Given the description of an element on the screen output the (x, y) to click on. 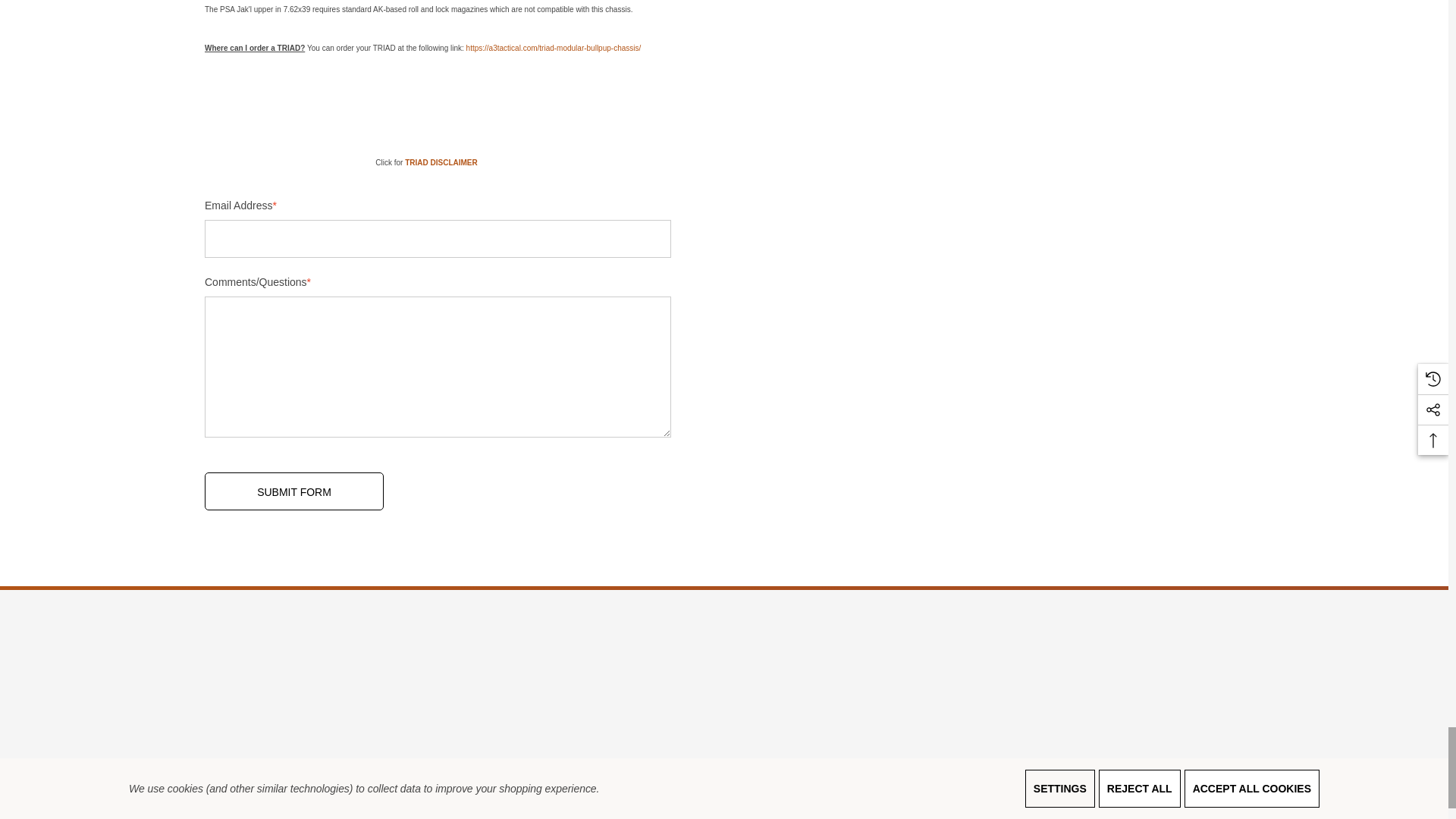
DISCLAIMER (440, 162)
Submit Form (294, 491)
